Given the description of an element on the screen output the (x, y) to click on. 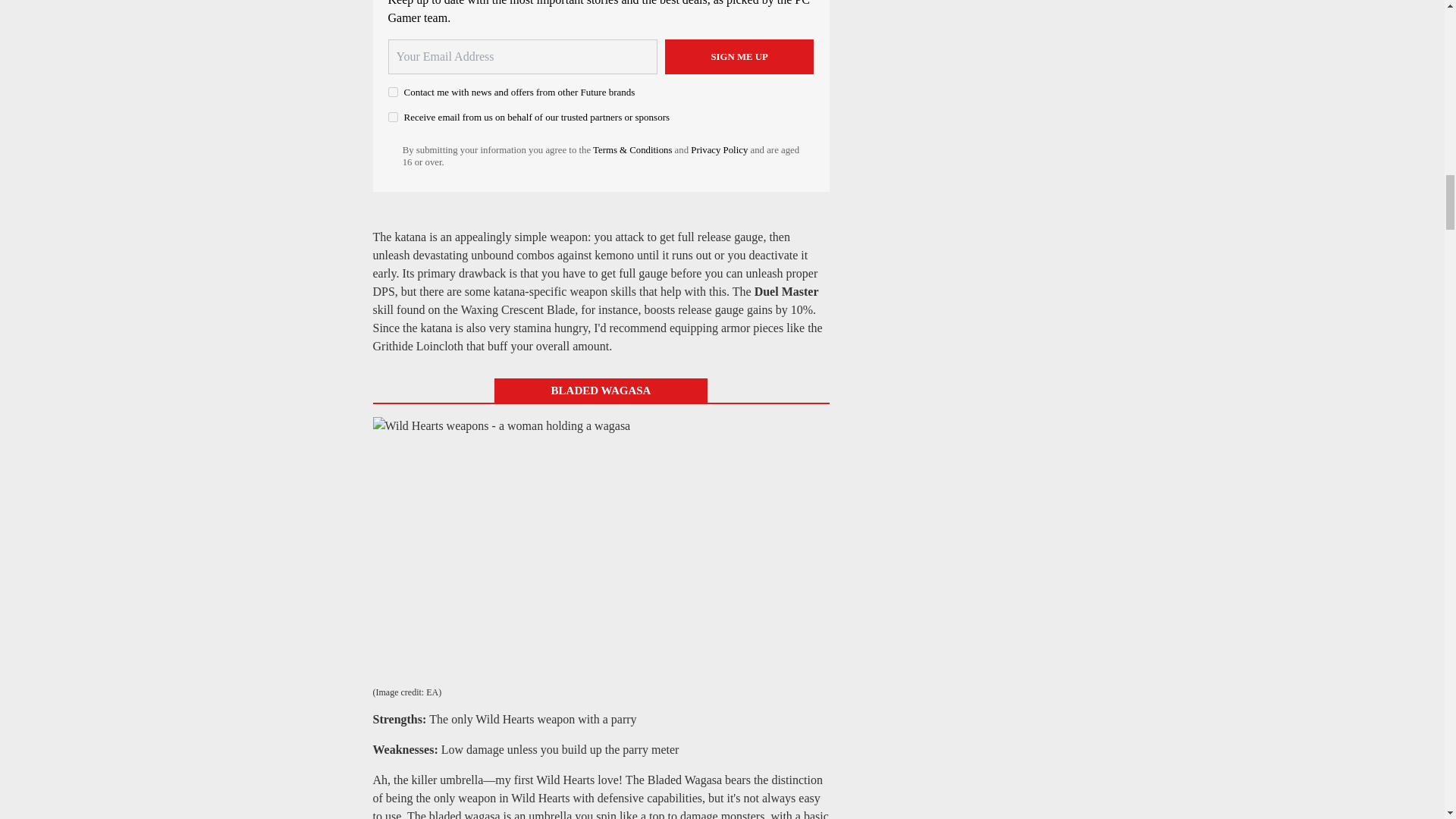
on (392, 117)
Sign me up (739, 56)
on (392, 91)
